Given the description of an element on the screen output the (x, y) to click on. 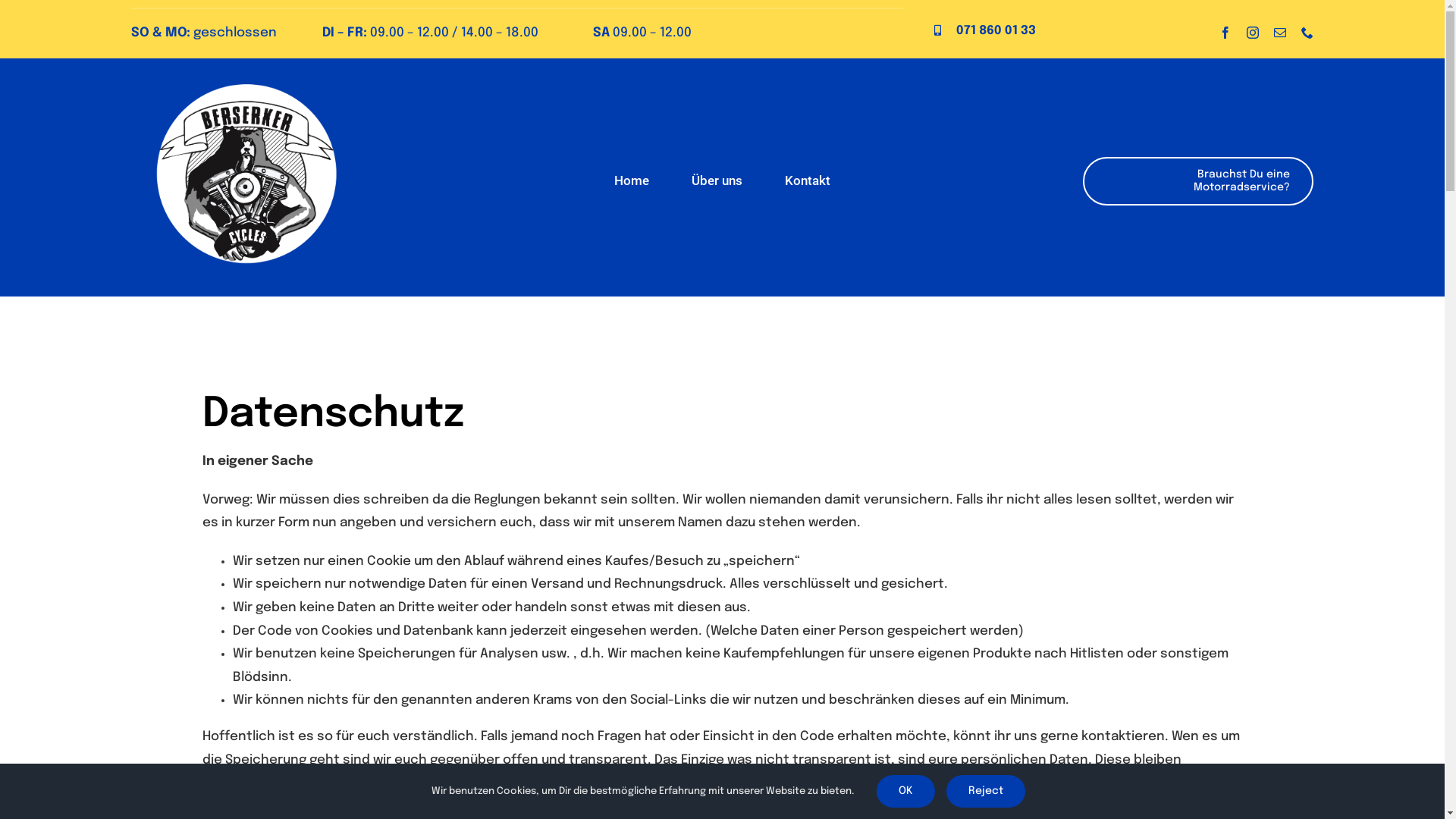
Reject Element type: text (985, 791)
Brauchst Du eine Motorradservice? Element type: text (1197, 180)
Kontakt Element type: text (807, 180)
Home Element type: text (631, 180)
OK Element type: text (905, 791)
071 860 01 33 Element type: text (995, 30)
